Given the description of an element on the screen output the (x, y) to click on. 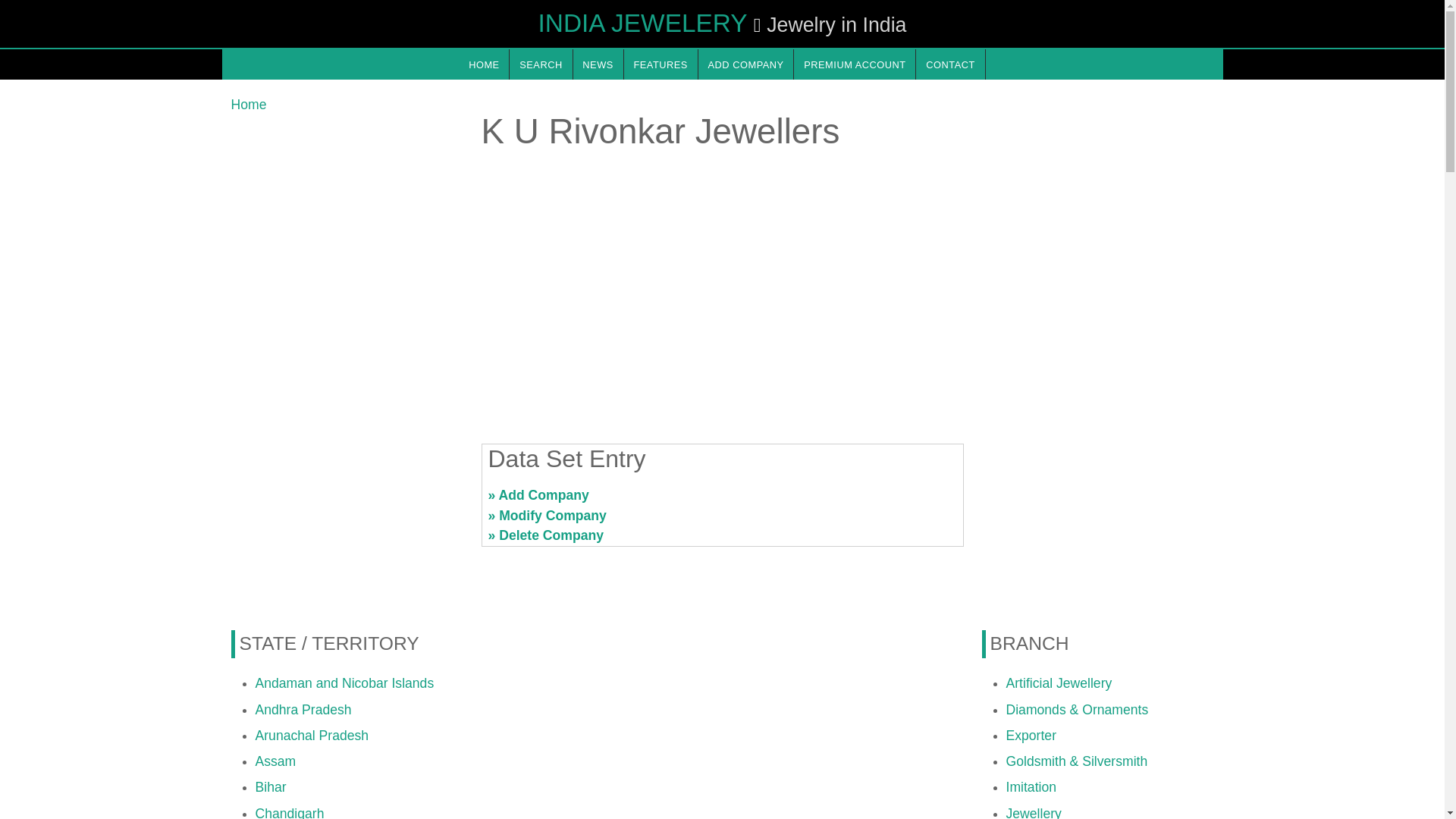
Search in this webseite. (540, 64)
FEATURES (660, 64)
ADD COMPANY (745, 64)
NEWS (598, 64)
Add a new company (745, 64)
SEARCH (540, 64)
Assam (274, 761)
Premium account (854, 64)
Bihar (269, 786)
HOME (483, 64)
PREMIUM ACCOUNT (854, 64)
Andaman and Nicobar Islands (343, 683)
Arunachal Pradesh (311, 735)
INDIA JEWELERY (643, 22)
